Given the description of an element on the screen output the (x, y) to click on. 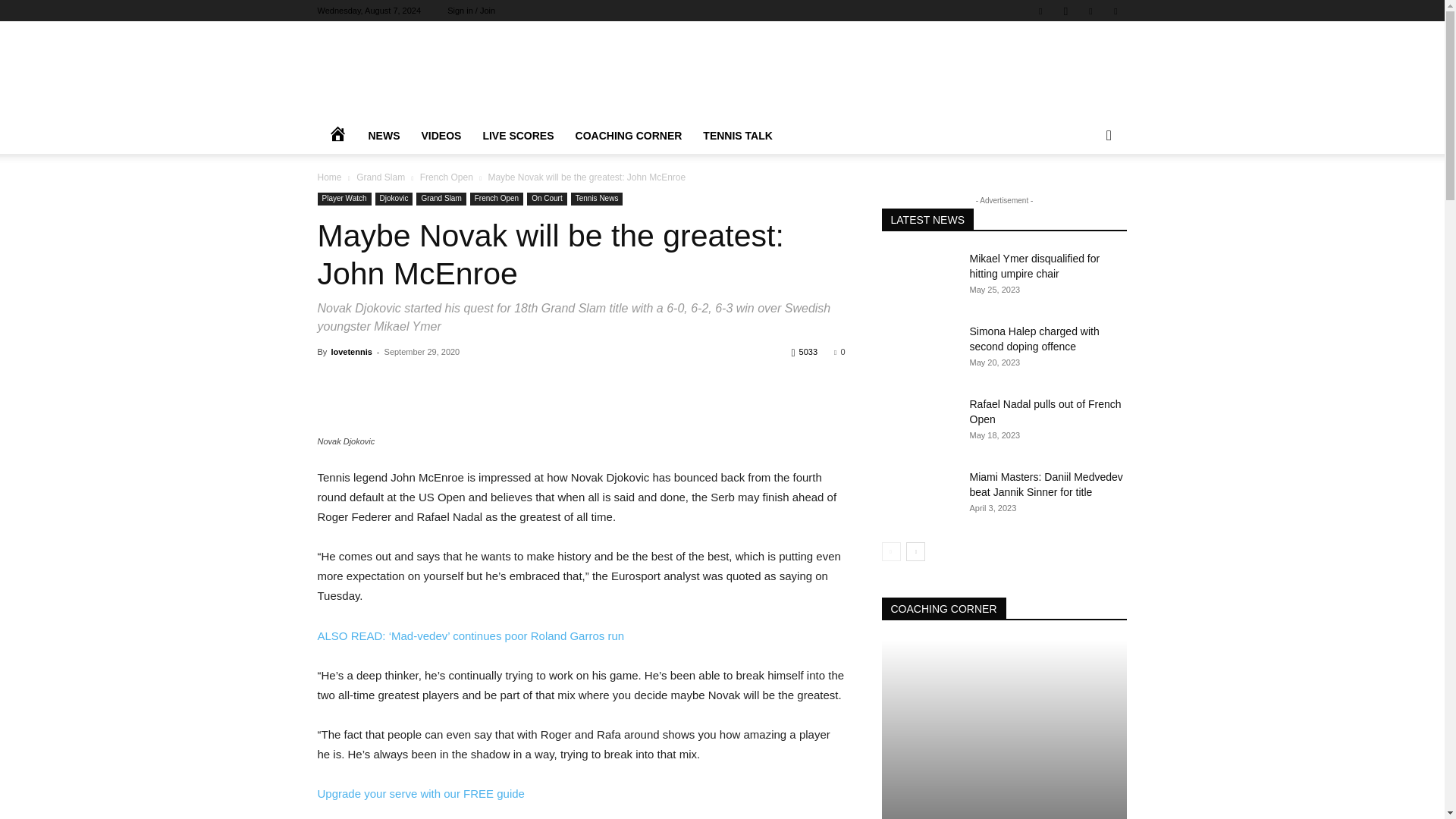
HOME (336, 135)
Twitter (1090, 10)
Instagram (1065, 10)
VIDEOS (440, 135)
Facebook (1040, 10)
NEWS (384, 135)
Youtube (1114, 10)
